Given the description of an element on the screen output the (x, y) to click on. 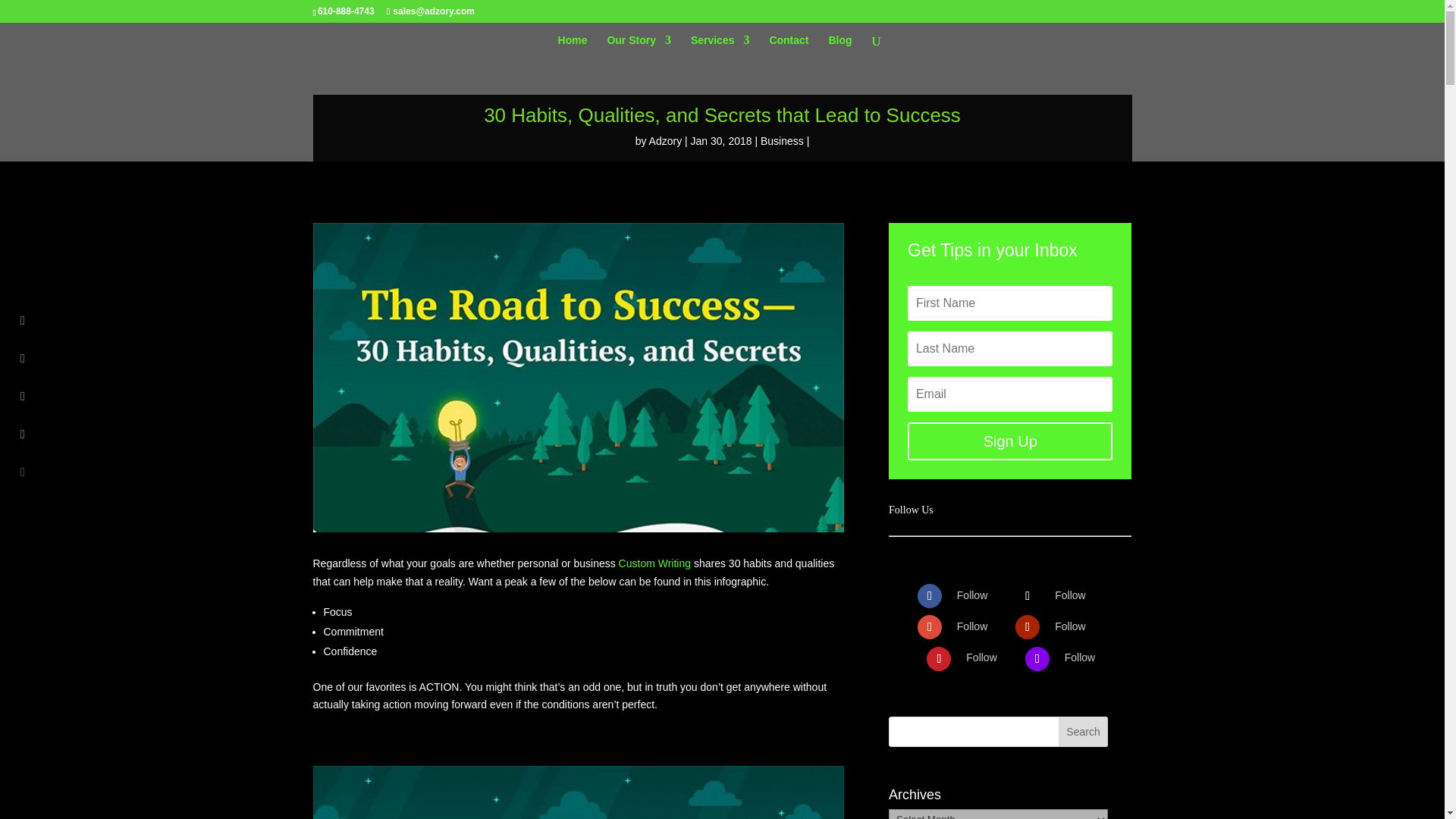
Instagram (1079, 657)
Follow (971, 626)
Facebook (971, 595)
Follow on Instagram (1037, 658)
Blog (839, 45)
Follow on Pinterest (938, 658)
Contact (788, 45)
Follow on Facebook (929, 595)
Follow on Twitter (1026, 595)
Twitter (1069, 595)
Custom Writing (654, 563)
Pinterest (981, 657)
Business (781, 141)
Home (572, 45)
610-888-4743 (345, 10)
